Given the description of an element on the screen output the (x, y) to click on. 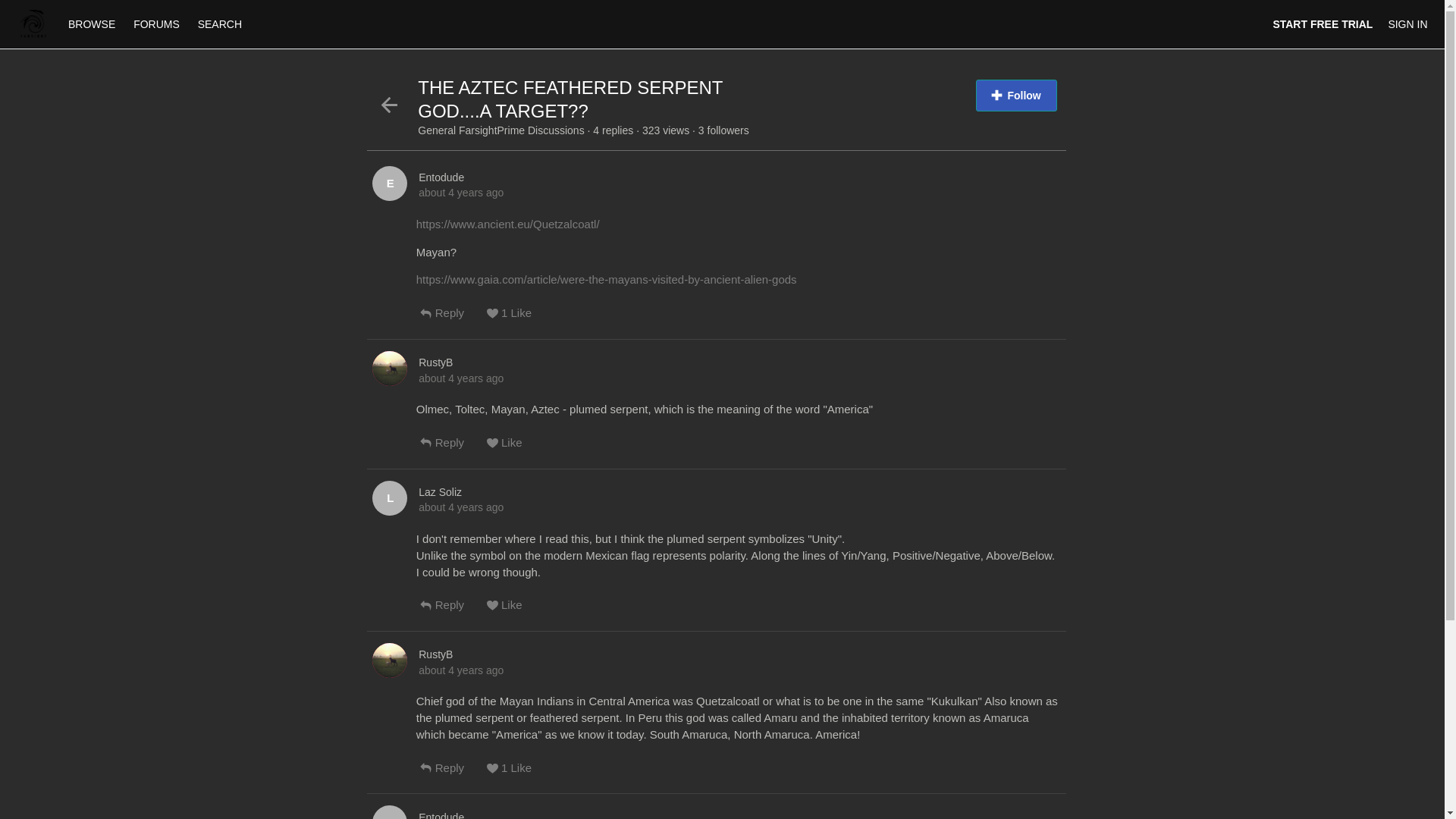
FORUMS (157, 24)
Reply (453, 318)
Reply (453, 448)
SIGN IN (1406, 24)
General FarsightPrime Discussions (501, 130)
START FREE TRIAL (1322, 24)
BROWSE (93, 24)
about 4 years ago (461, 192)
Reply (453, 610)
Reply (453, 773)
